Given the description of an element on the screen output the (x, y) to click on. 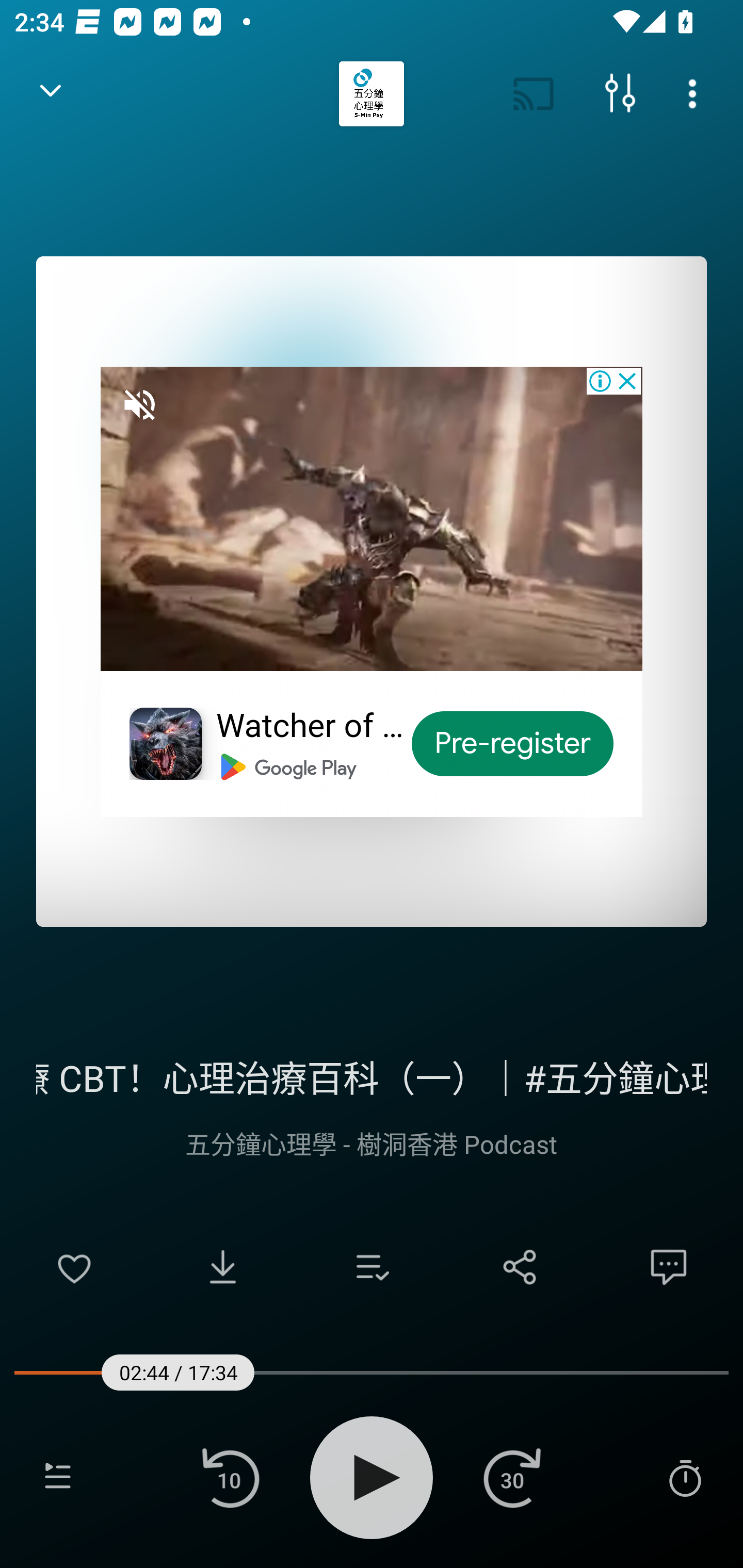
Cast. Disconnected (533, 93)
 Back (50, 94)
Watcher of … Pre-register Pre-register (371, 590)
Pre-register (512, 743)
#PSY｜困擾源於盲點？認知行為治療 CBT！心理治療百科（一）｜#五分鐘心理學 (371, 1075)
五分鐘心理學 - 樹洞香港 Podcast (371, 1142)
Comments (668, 1266)
Add to Favorites (73, 1266)
Add to playlist (371, 1266)
Share (519, 1266)
 Playlist (57, 1477)
Sleep Timer  (684, 1477)
